Given the description of an element on the screen output the (x, y) to click on. 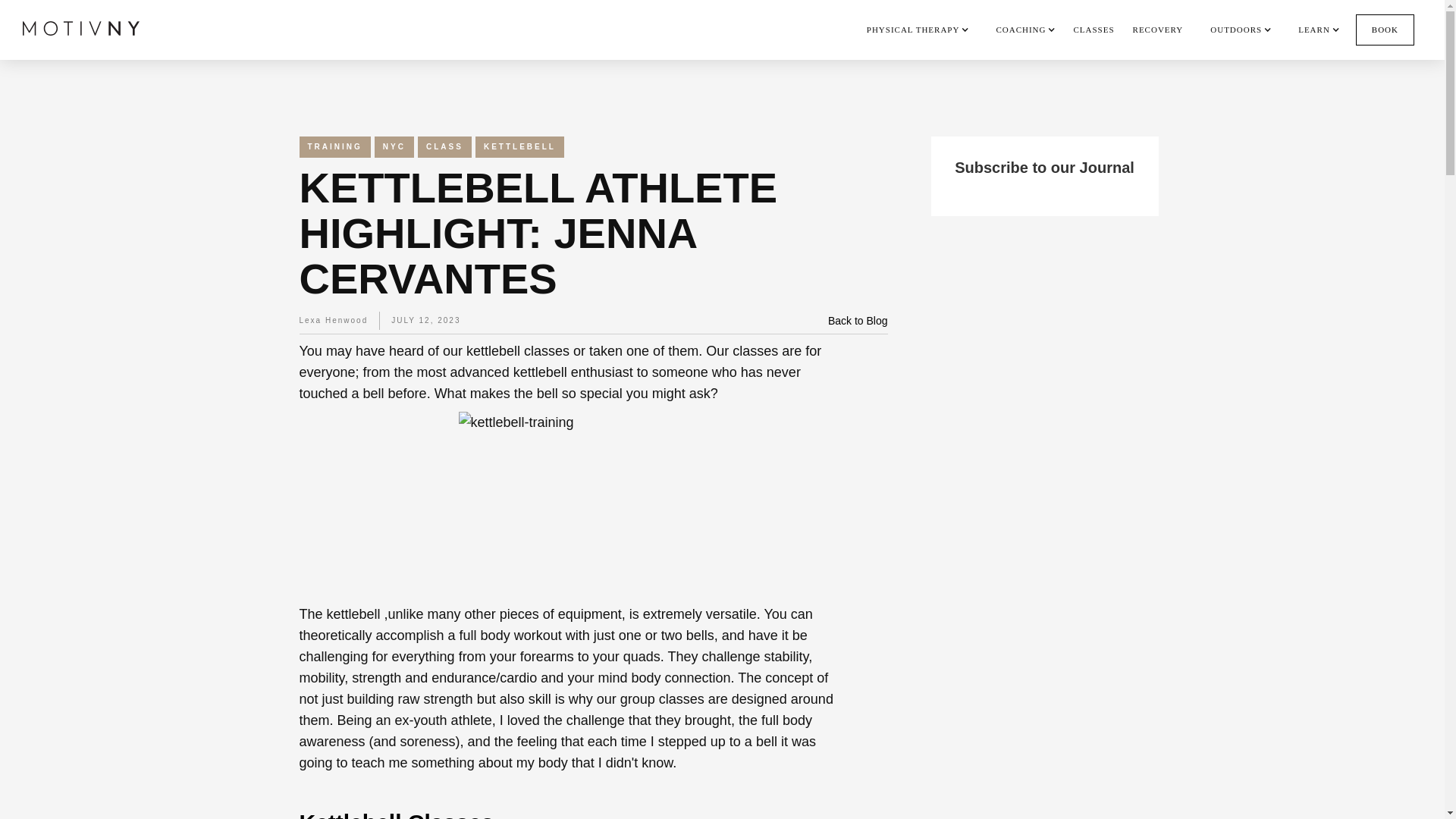
BOOK (1384, 29)
Back to Blog (858, 321)
Lexa Henwood (333, 321)
MOTIVNY-logo (81, 28)
NYC (393, 147)
RECOVERY (1157, 29)
CLASSES (1093, 29)
PHYSICAL THERAPY (913, 29)
TRAINING (333, 147)
COACHING (1020, 29)
KETTLEBELL (520, 147)
OUTDOORS (1236, 29)
LEARN (1314, 29)
CLASS (444, 147)
